Given the description of an element on the screen output the (x, y) to click on. 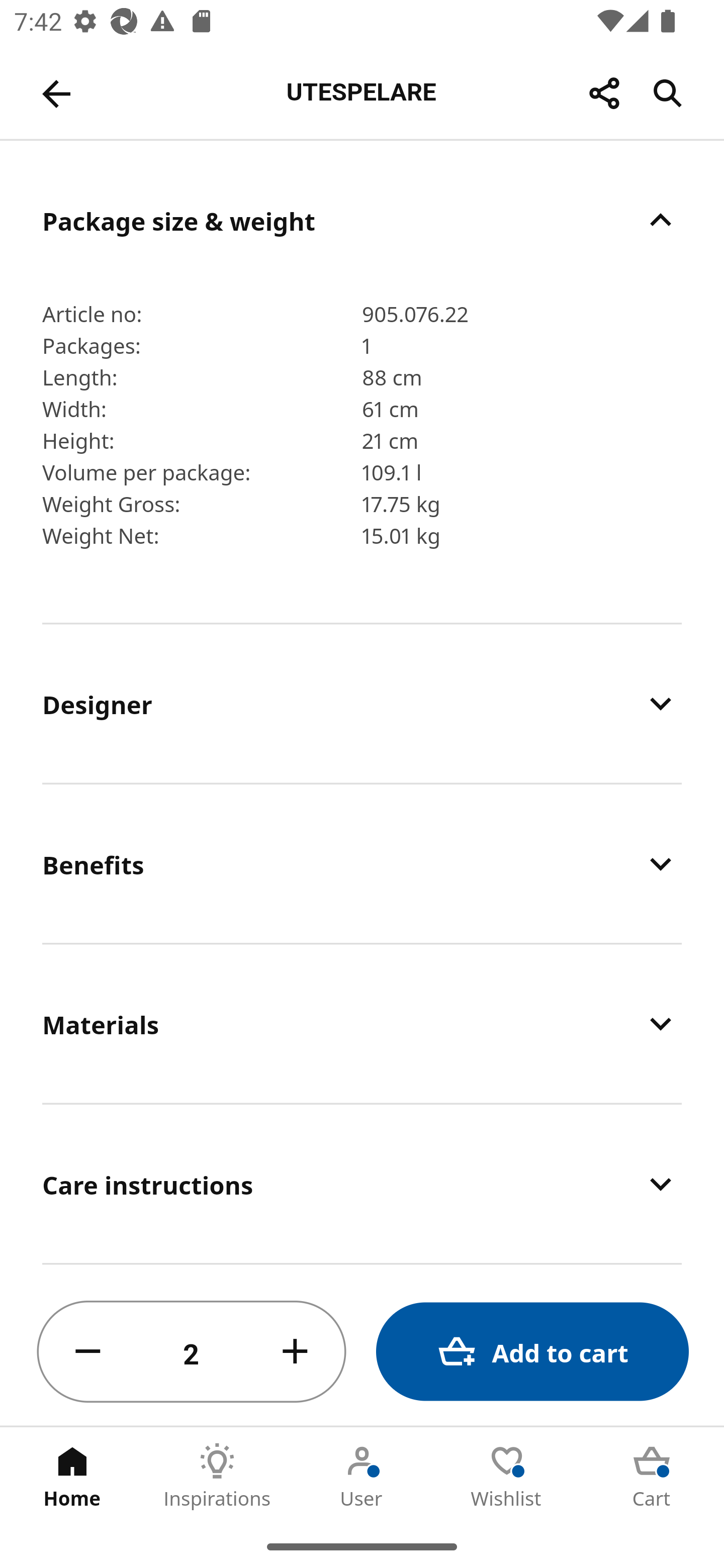
Package size & weight (361, 219)
Designer (361, 702)
Benefits (361, 863)
Materials (361, 1023)
Care instructions (361, 1183)
Add to cart (531, 1352)
2 (191, 1352)
Home
Tab 1 of 5 (72, 1476)
Inspirations
Tab 2 of 5 (216, 1476)
User
Tab 3 of 5 (361, 1476)
Wishlist
Tab 4 of 5 (506, 1476)
Cart
Tab 5 of 5 (651, 1476)
